Given the description of an element on the screen output the (x, y) to click on. 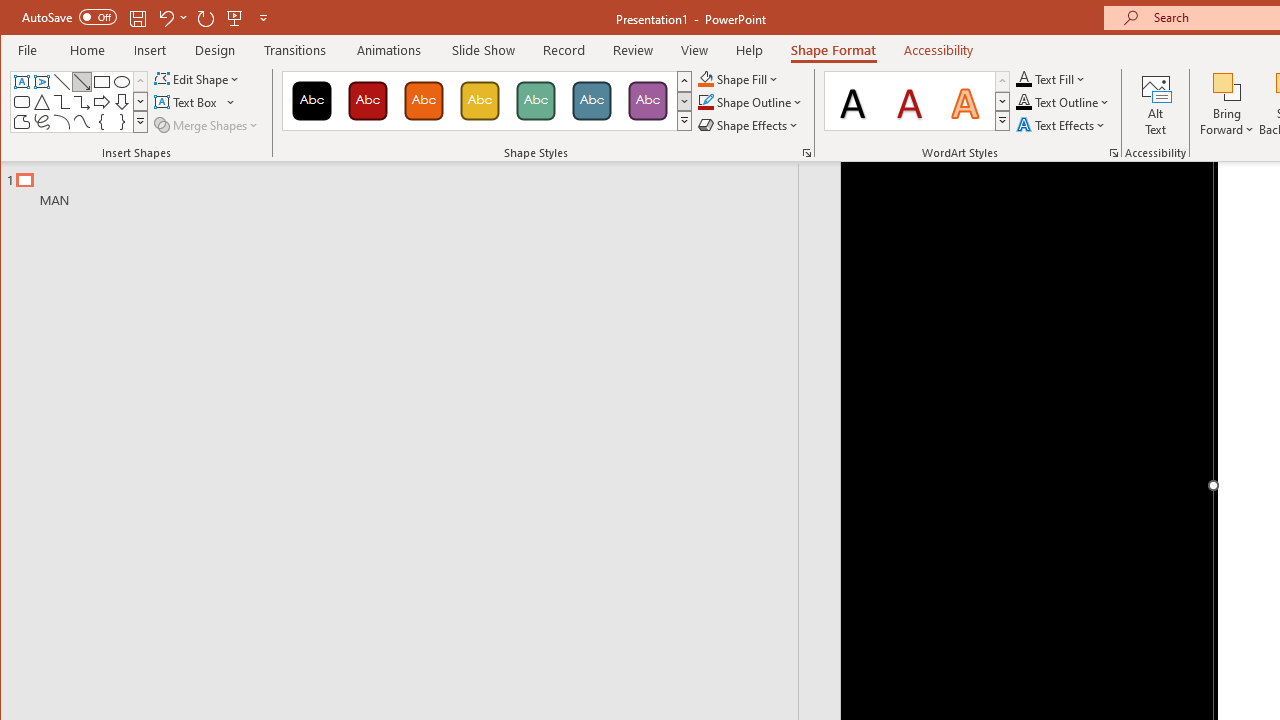
Fill: Black, Text color 1; Shadow (853, 100)
Draw Horizontal Text Box (187, 101)
Freeform: Scribble (42, 121)
Outline (408, 185)
Rectangle (102, 82)
Text Fill (1051, 78)
AutomationID: ShapeStylesGallery (488, 101)
Shape Outline (750, 101)
Format Text Effects... (1113, 152)
Arrow: Right (102, 102)
Edit Shape (198, 78)
